Given the description of an element on the screen output the (x, y) to click on. 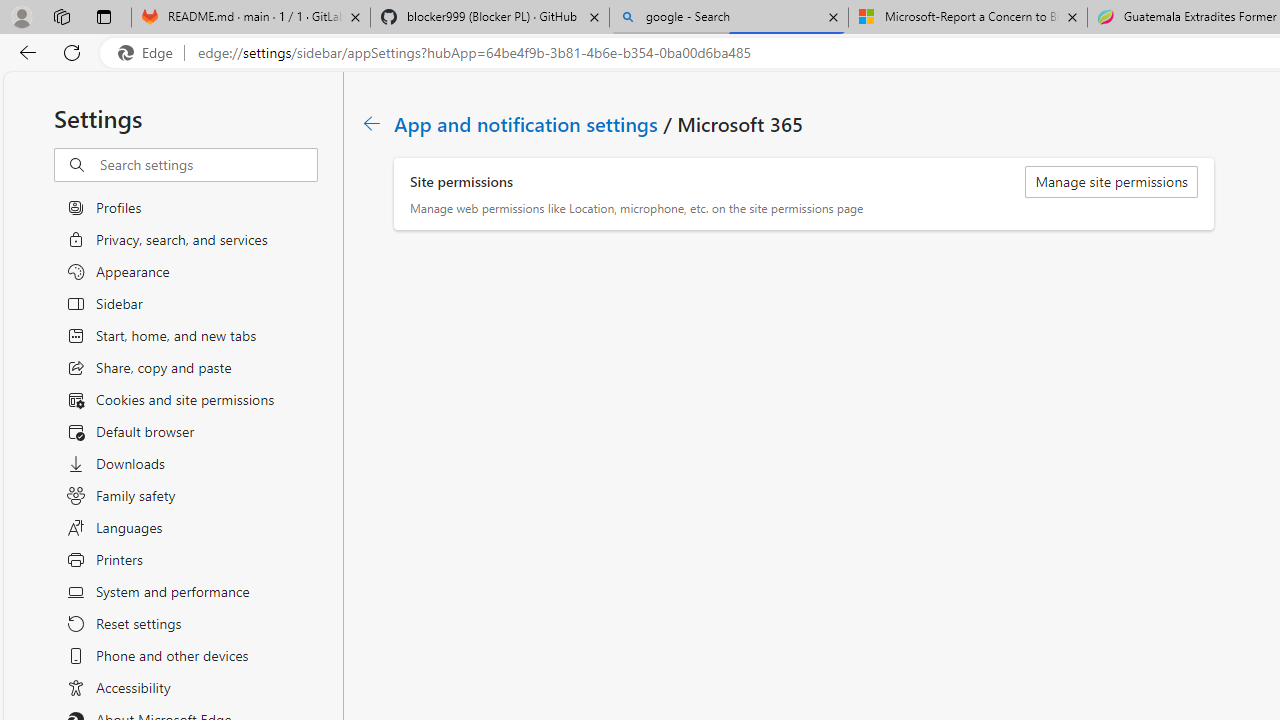
Search settings (207, 165)
